Given the description of an element on the screen output the (x, y) to click on. 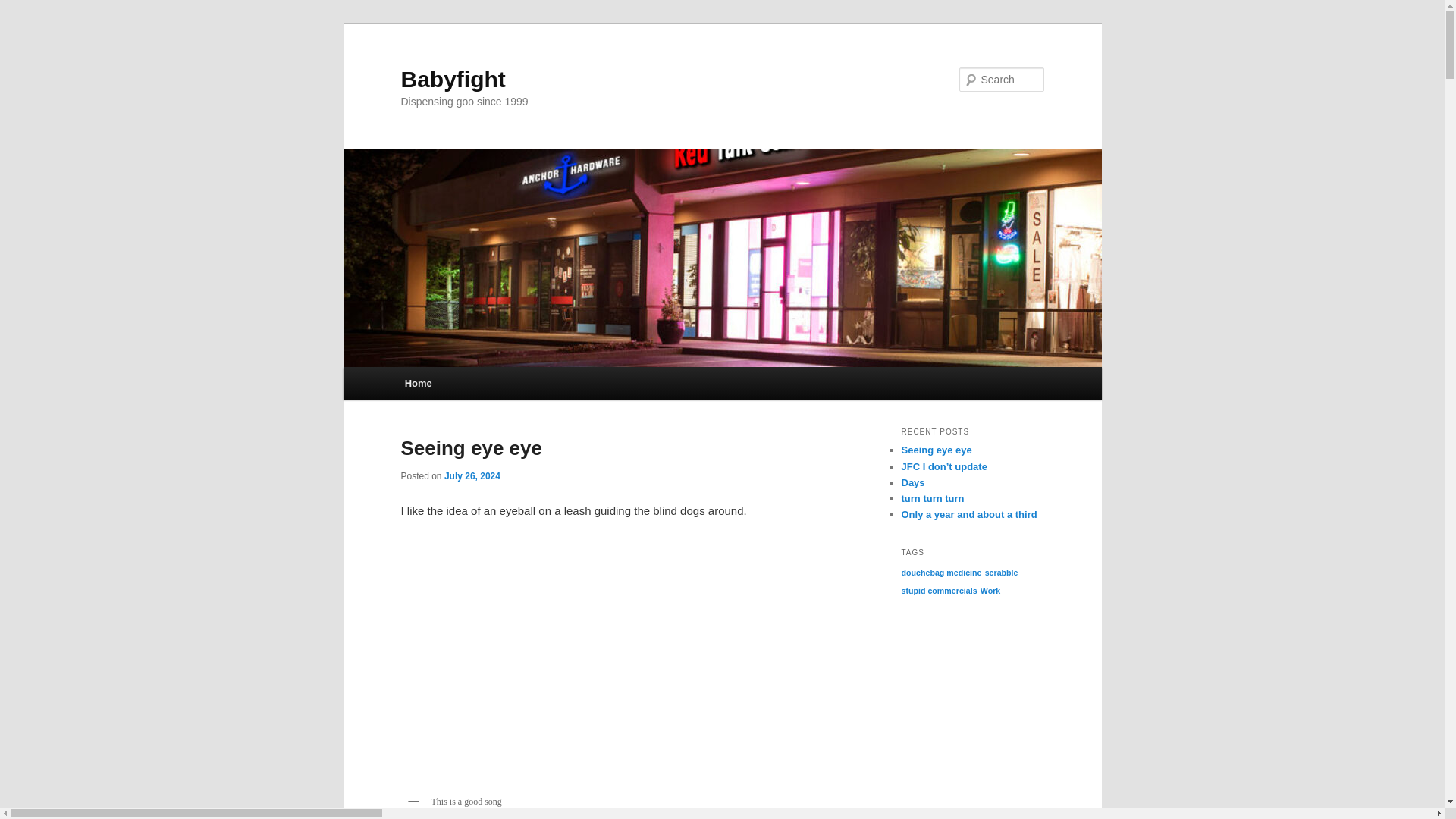
Seeing eye eye (470, 447)
July 26, 2024 (472, 475)
7:41 pm (472, 475)
"Bad in a Good Way" Brian Bulger Official Music Video (621, 662)
Babyfight (452, 78)
Home (418, 382)
Search (24, 8)
